Given the description of an element on the screen output the (x, y) to click on. 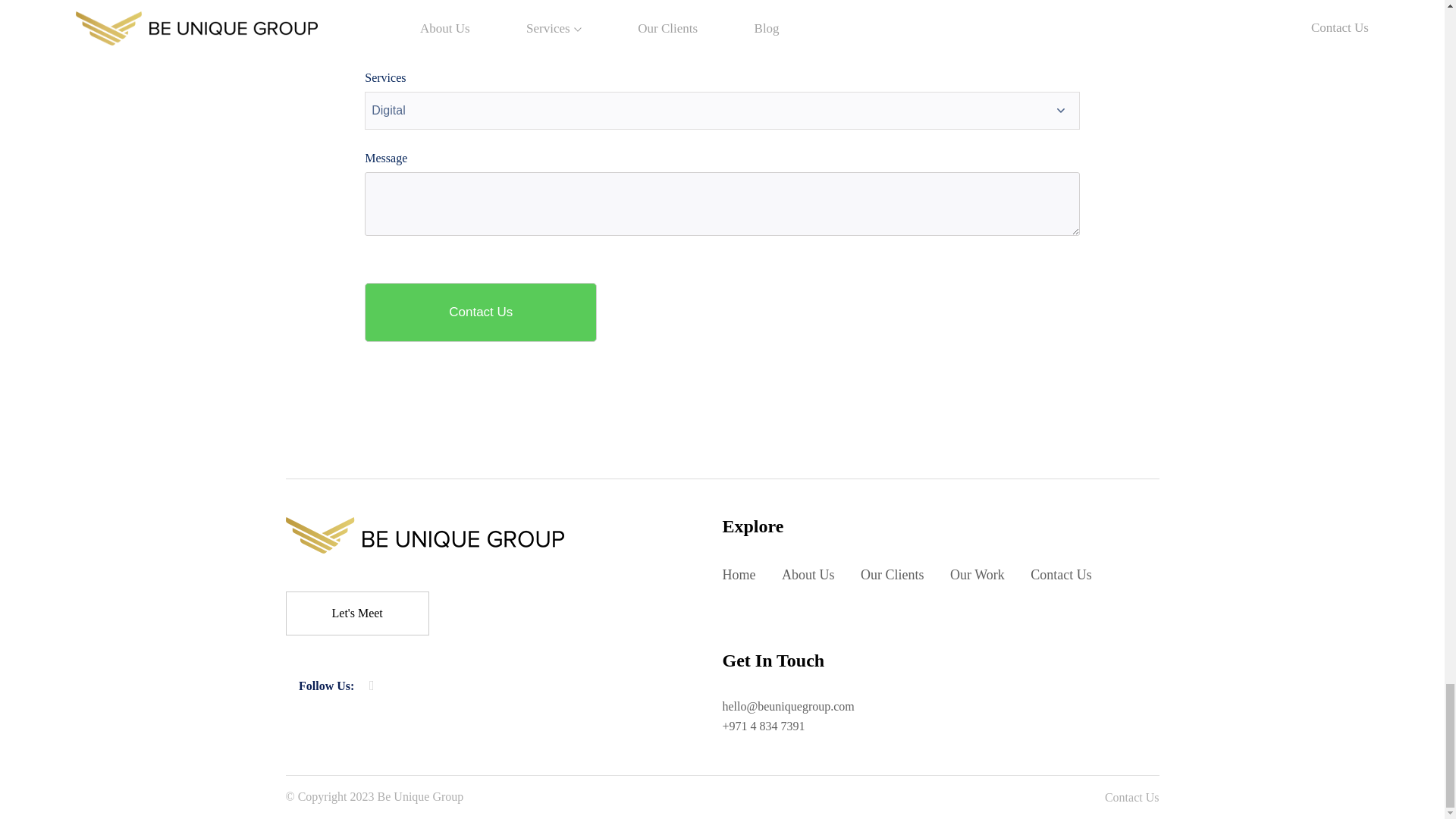
Contact Us (480, 312)
